Given the description of an element on the screen output the (x, y) to click on. 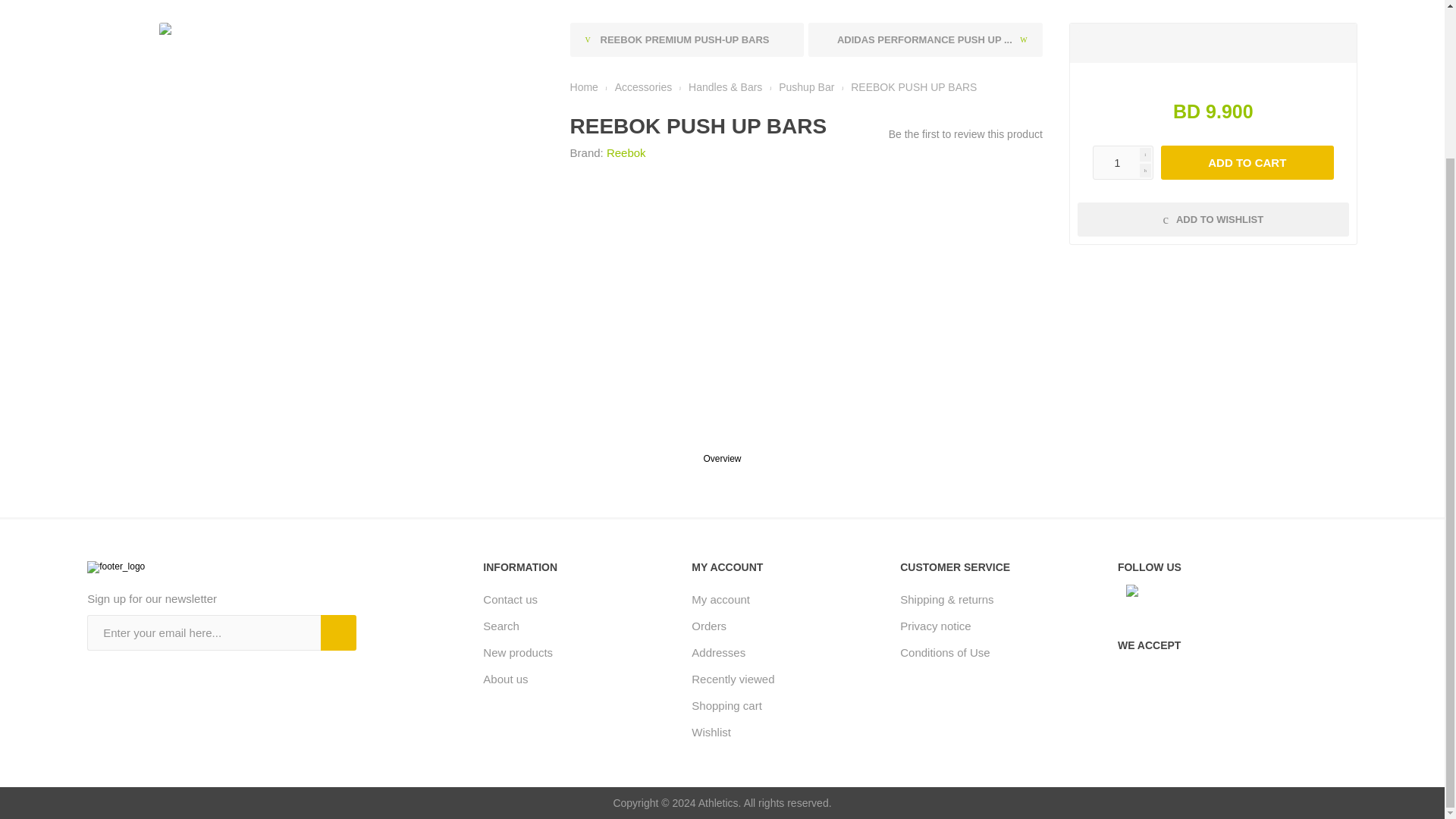
Add to Cart (1246, 162)
Subscribe (338, 632)
1 (1123, 162)
